Given the description of an element on the screen output the (x, y) to click on. 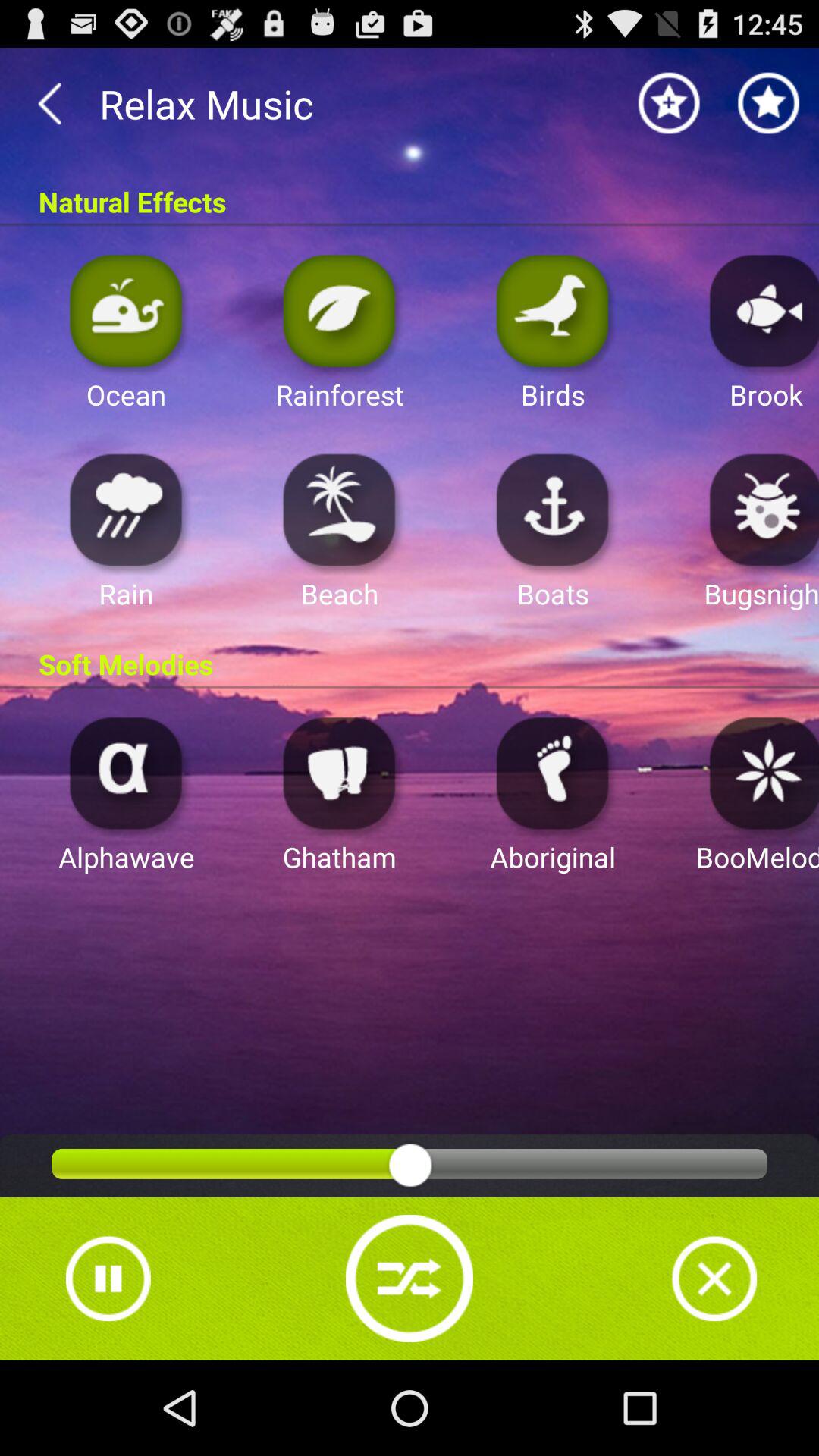
make favorite (769, 103)
